Given the description of an element on the screen output the (x, y) to click on. 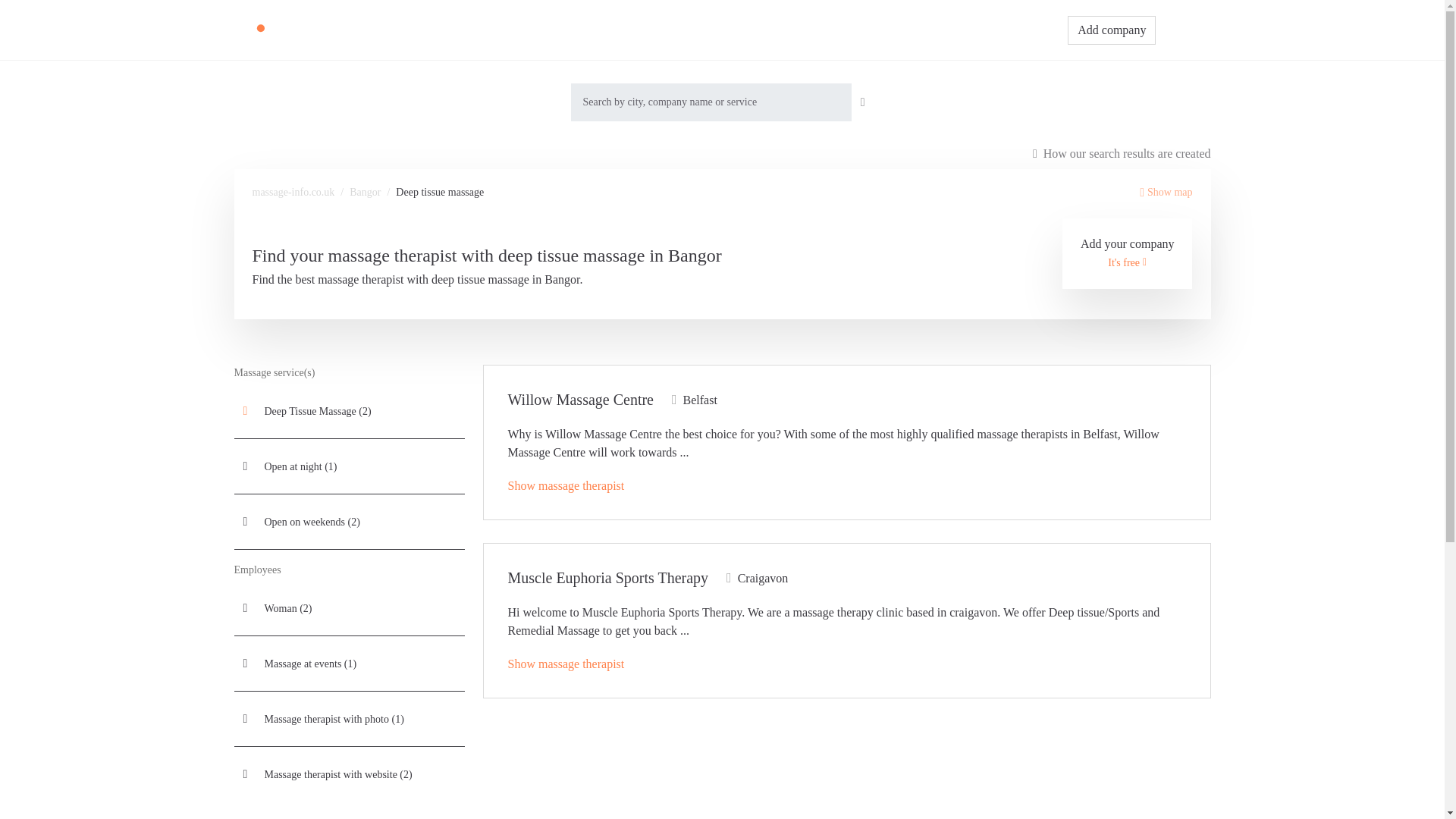
Articles (774, 29)
Forum (831, 29)
Find massage therapist (684, 29)
